Given the description of an element on the screen output the (x, y) to click on. 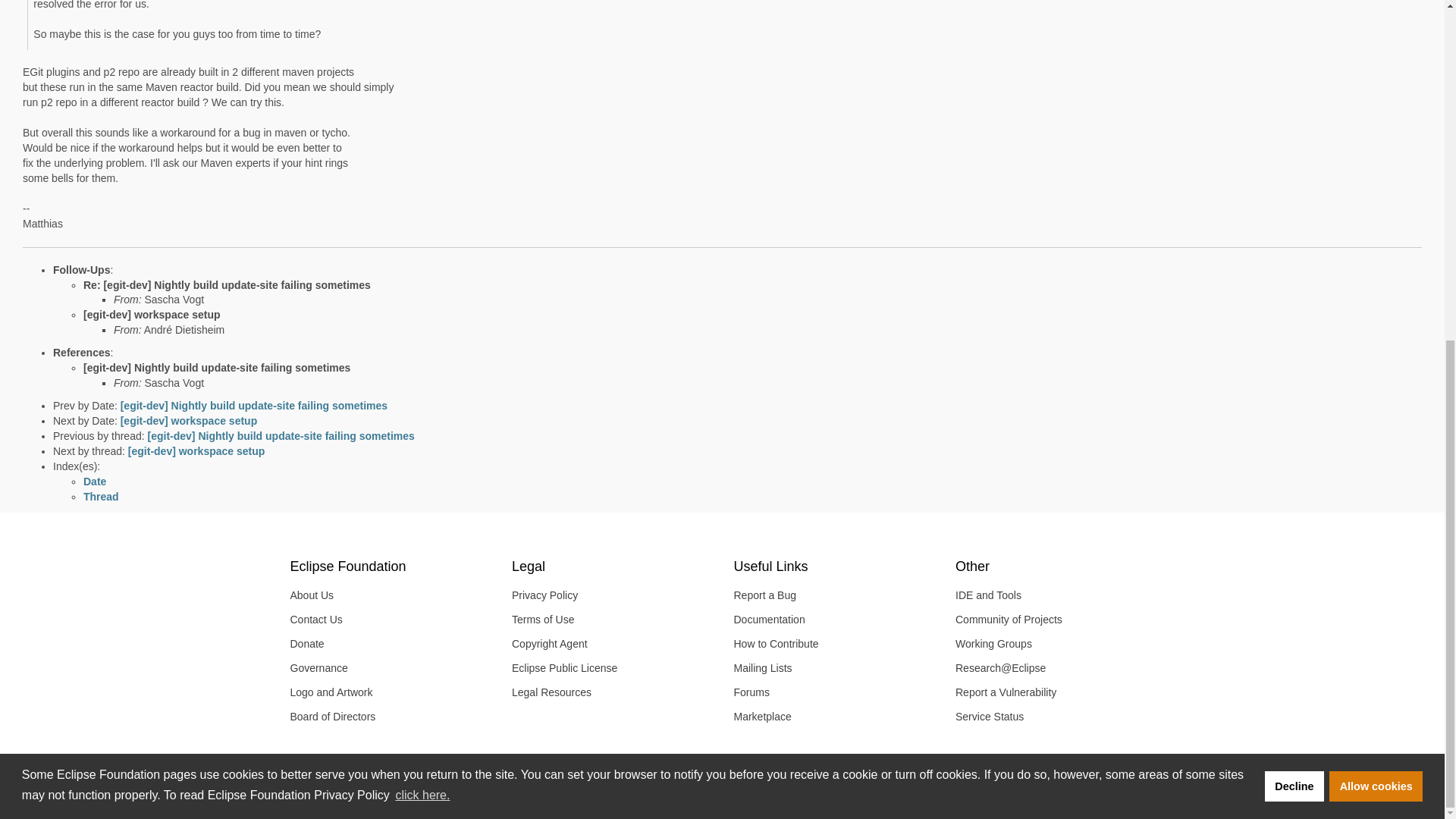
click here. (422, 217)
Allow cookies (1375, 208)
Decline (1294, 208)
